Given the description of an element on the screen output the (x, y) to click on. 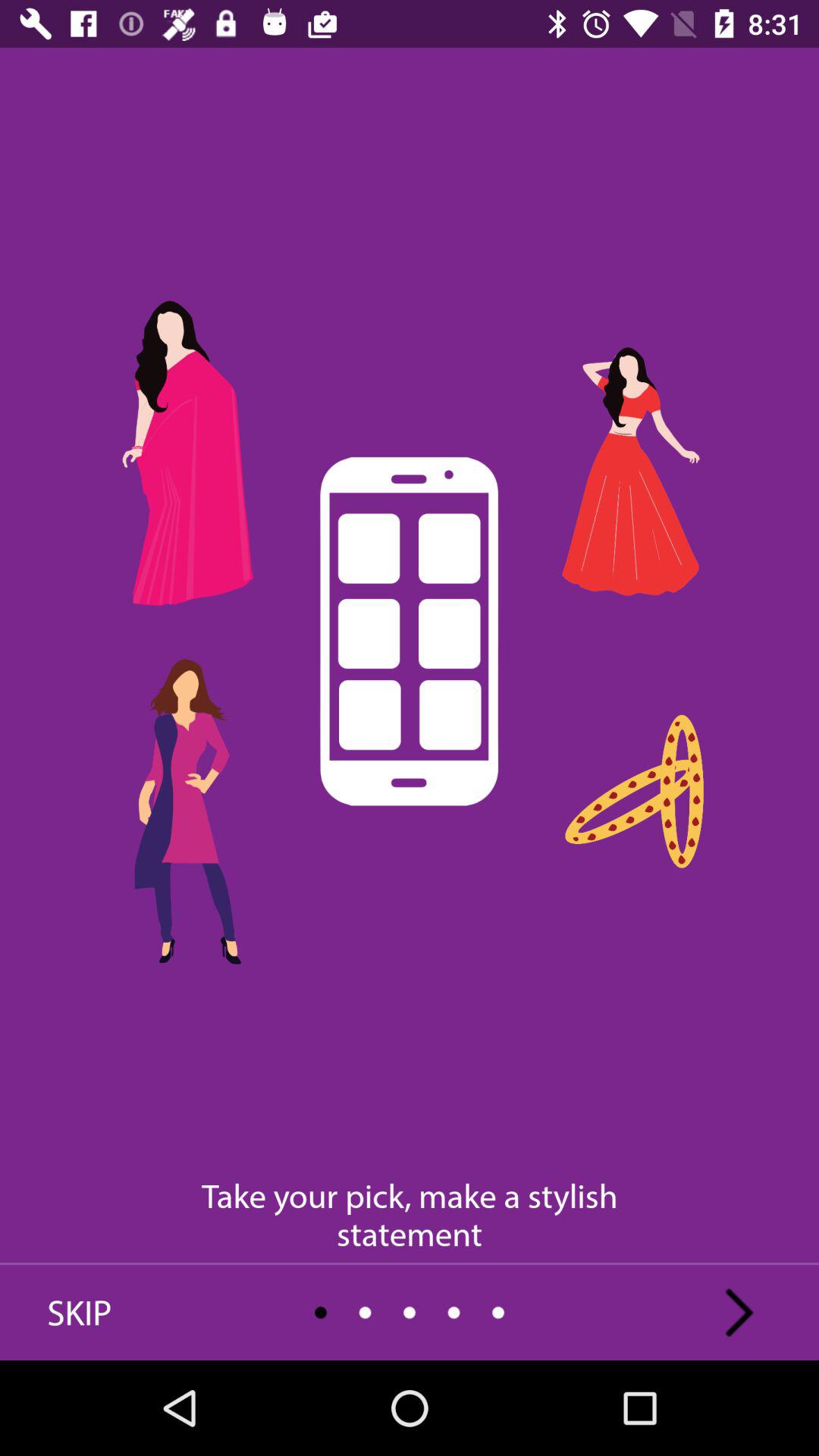
turn off the icon next to the take your pick item (79, 1312)
